Given the description of an element on the screen output the (x, y) to click on. 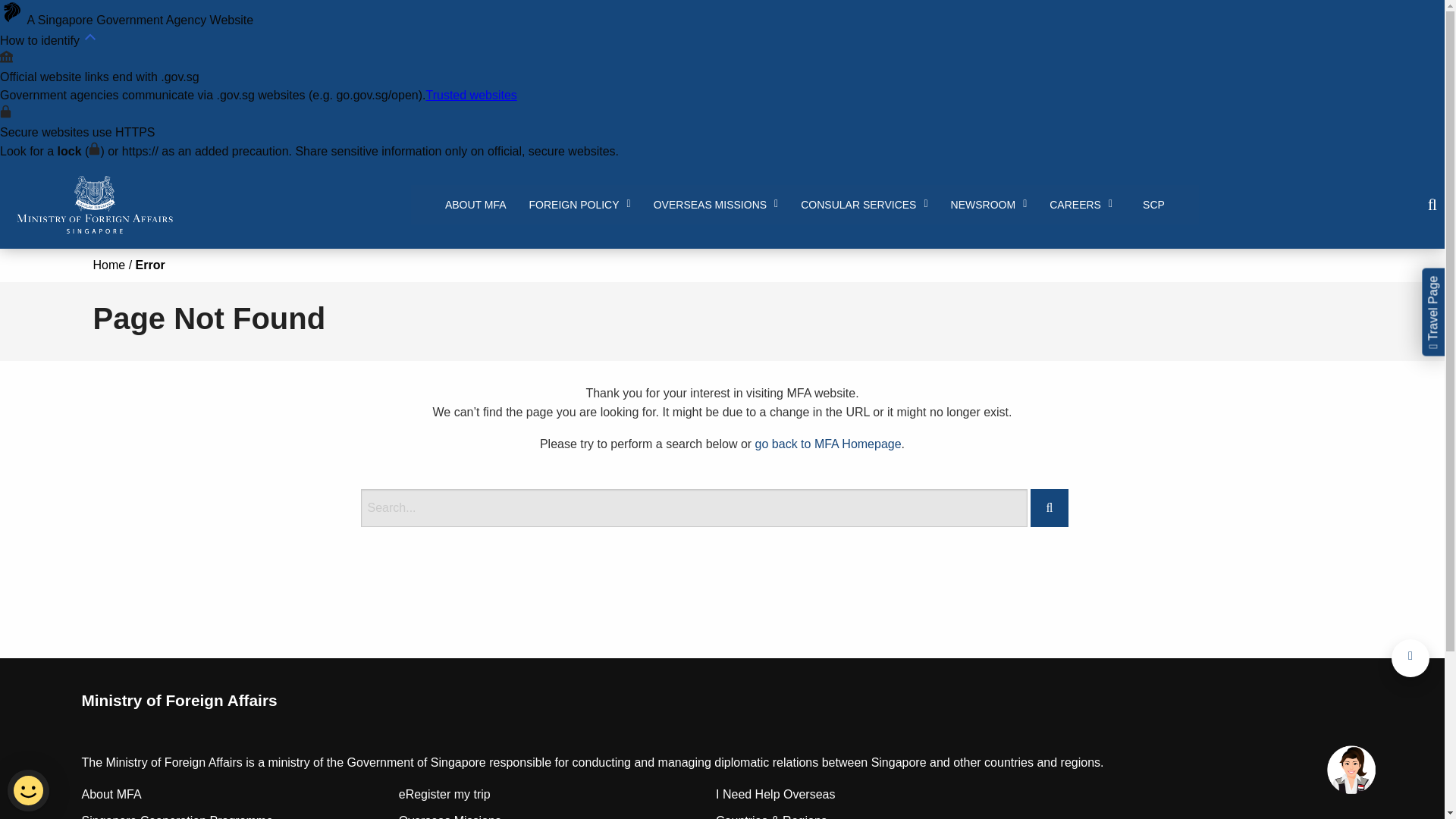
NEWSROOM (989, 204)
ABOUT MFA (475, 204)
CAREERS (1081, 204)
Ministry of Foreign Affairs Singapore (94, 204)
FOREIGN POLICY (580, 204)
OVERSEAS MISSIONS (716, 204)
Back to top of page (1410, 658)
CONSULAR SERVICES (864, 204)
